Given the description of an element on the screen output the (x, y) to click on. 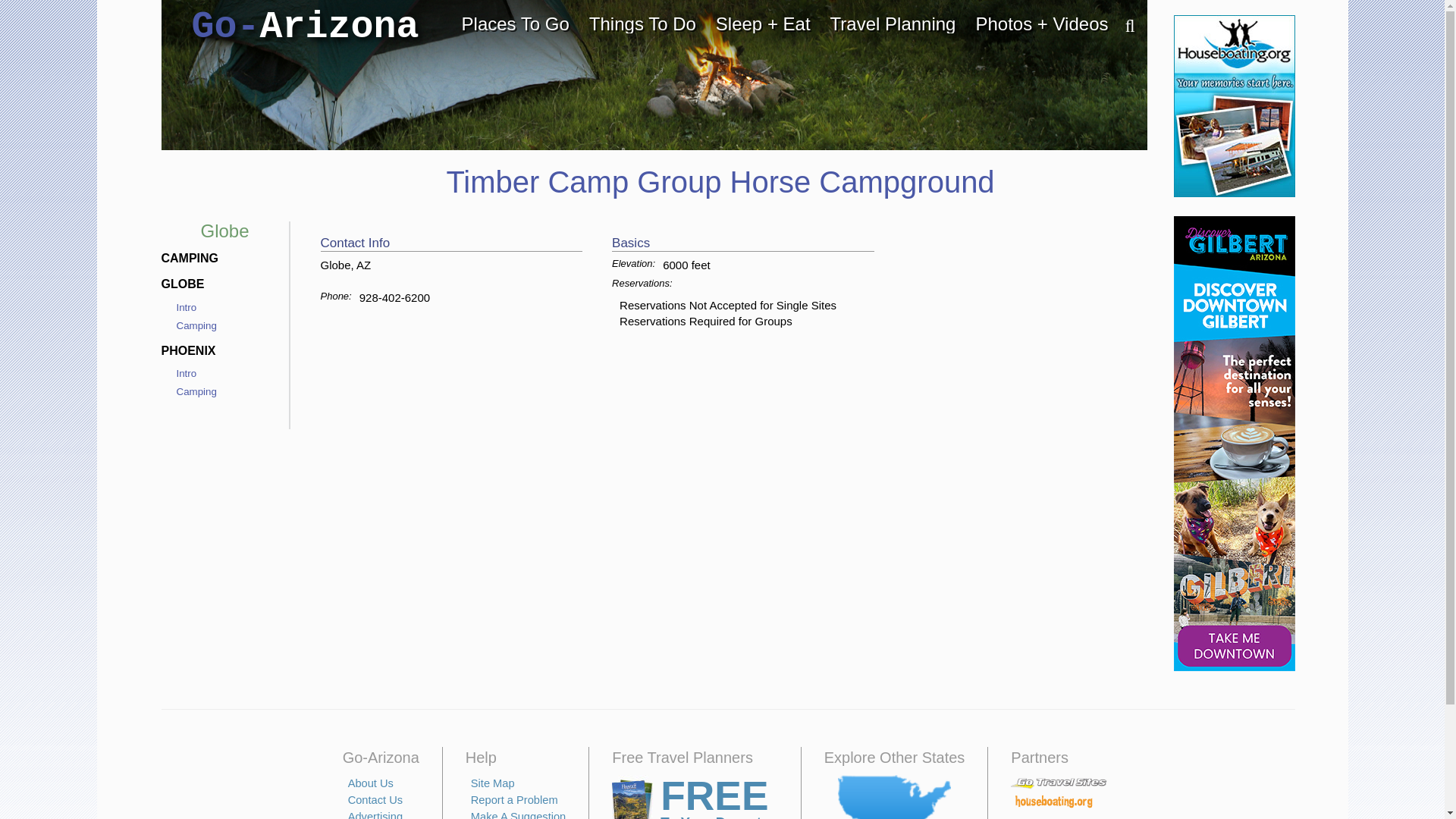
Search Here (1122, 26)
Information about advertising on this site. (375, 814)
Things To Do (643, 24)
Information about this site and the Go Travel Sites. (370, 783)
Places To Go (515, 24)
Click here to explore other Go Travel Sites (894, 796)
Request Your Arizona Travel Information (694, 796)
Search Here (1122, 26)
Go-Arizona (304, 27)
Contact Information for this site and the Go Travel Sites. (375, 799)
A record of major sections of this website. (492, 783)
go-arizona.com (304, 27)
